Given the description of an element on the screen output the (x, y) to click on. 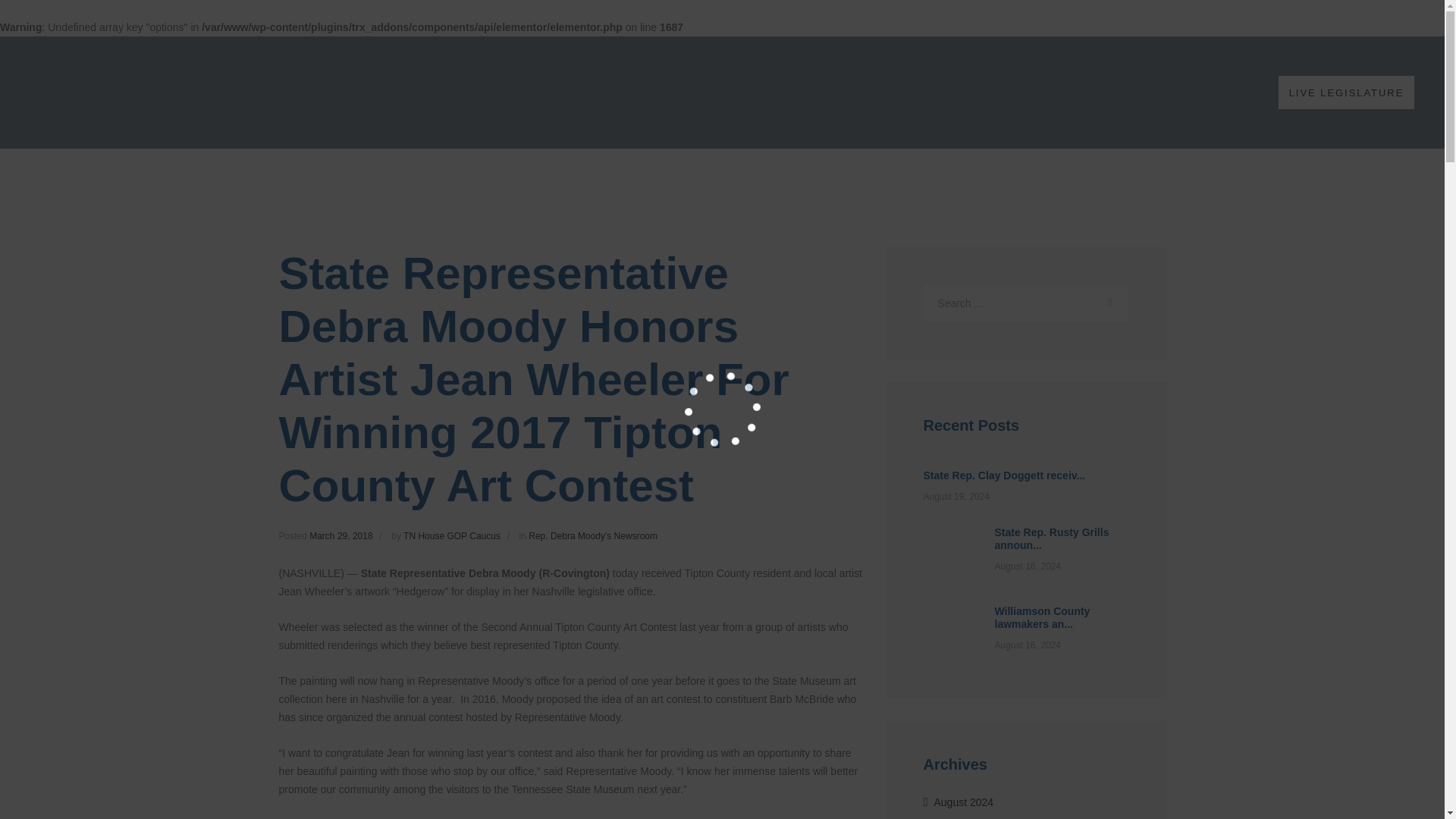
LIVE LEGISLATURE (1345, 92)
Search (1108, 303)
Rep. Debra Moody's Newsroom (593, 535)
by TN House GOP Caucus (453, 535)
Search (1108, 303)
